Given the description of an element on the screen output the (x, y) to click on. 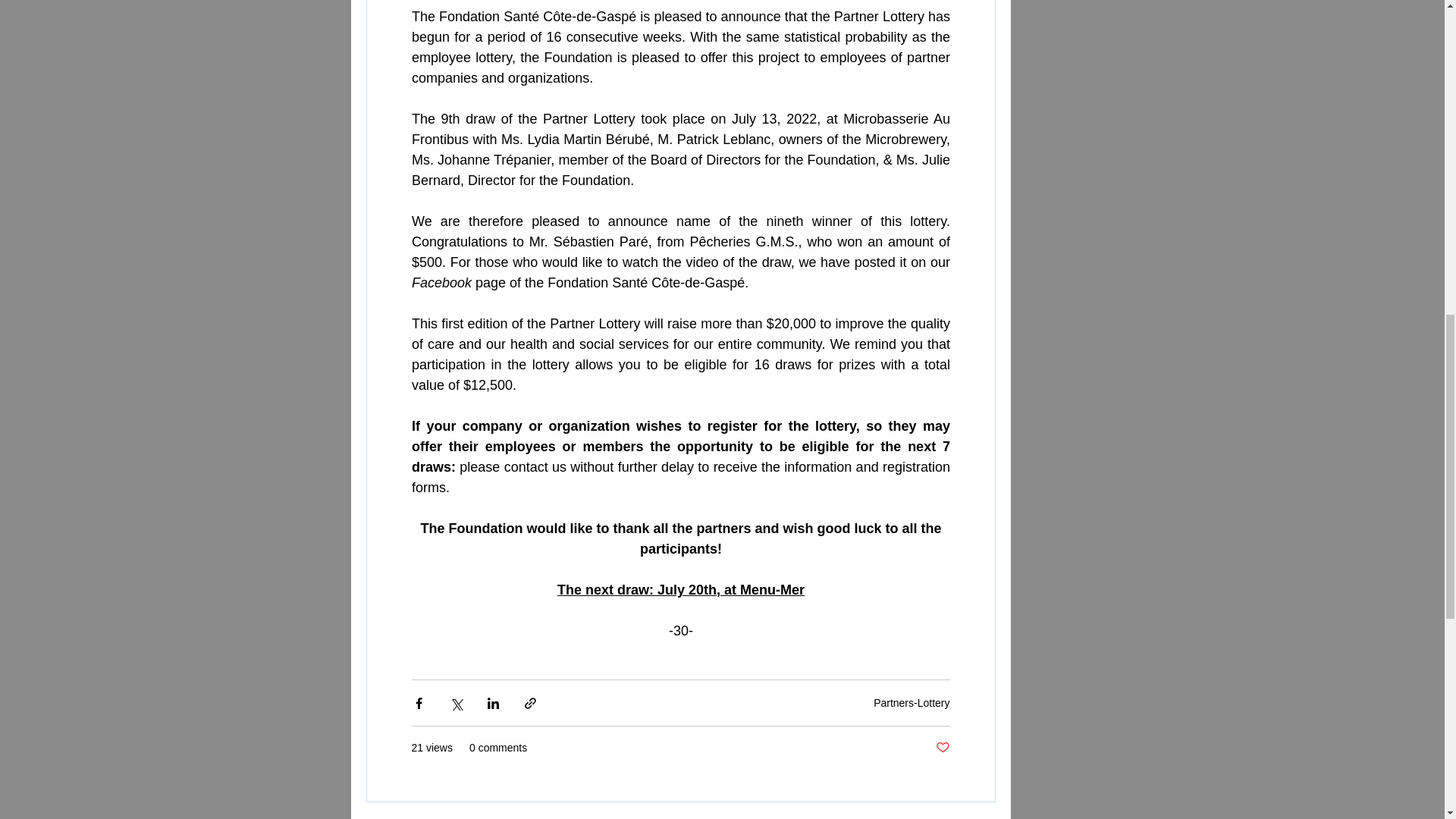
Partners-Lottery (911, 702)
Post not marked as liked (943, 747)
